Given the description of an element on the screen output the (x, y) to click on. 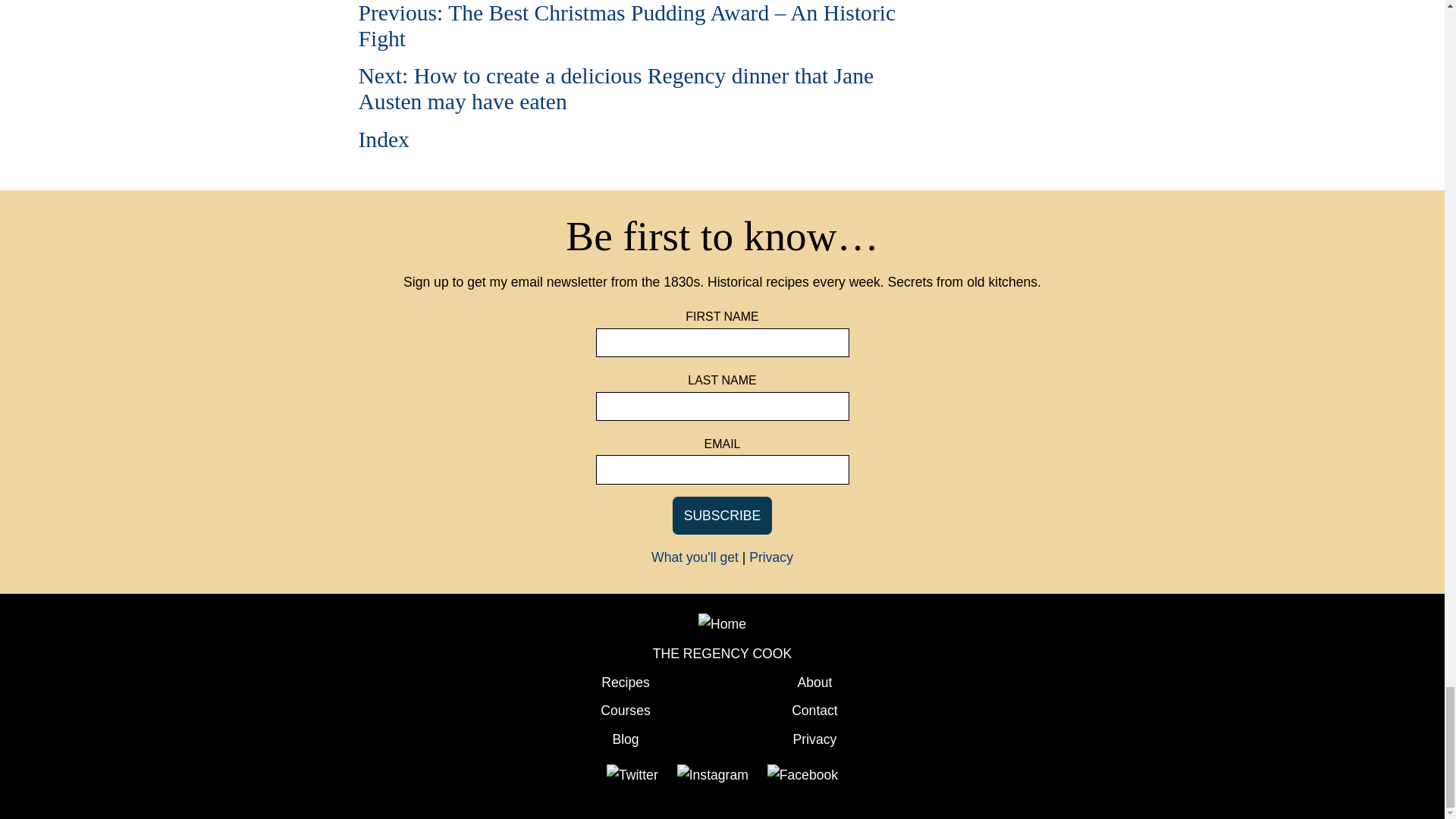
What you'll get (694, 557)
Recipes (625, 682)
Subscribe (722, 515)
Subscribe (722, 515)
About (813, 682)
Courses (624, 710)
Privacy (771, 557)
Contact (815, 710)
Index (383, 139)
